Given the description of an element on the screen output the (x, y) to click on. 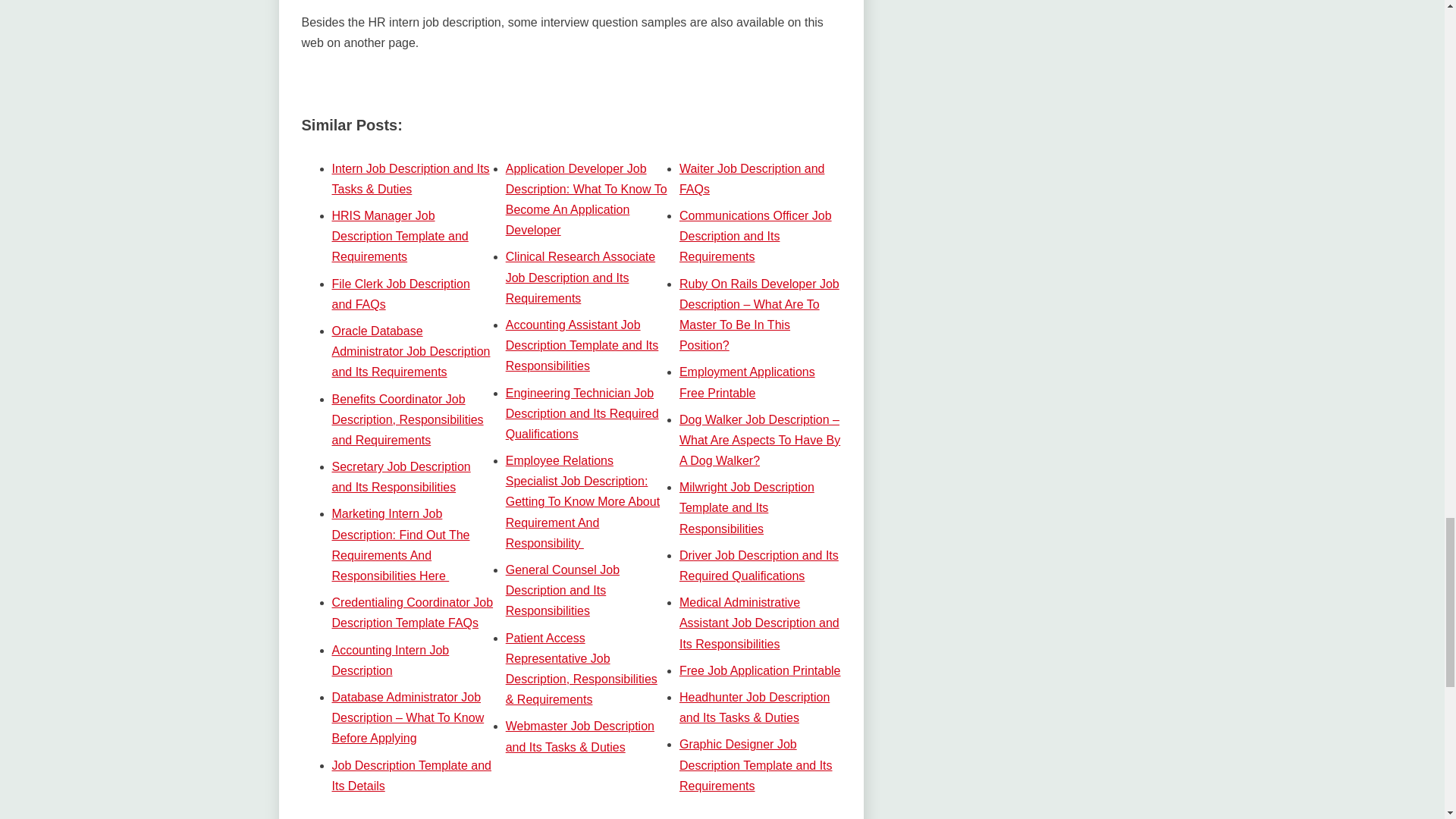
Credentialing Coordinator Job Description Template FAQs (412, 612)
Accounting Intern Job Description (390, 660)
HRIS Manager Job Description Template and Requirements (399, 235)
Secretary Job Description and Its Responsibilities (400, 476)
